Given the description of an element on the screen output the (x, y) to click on. 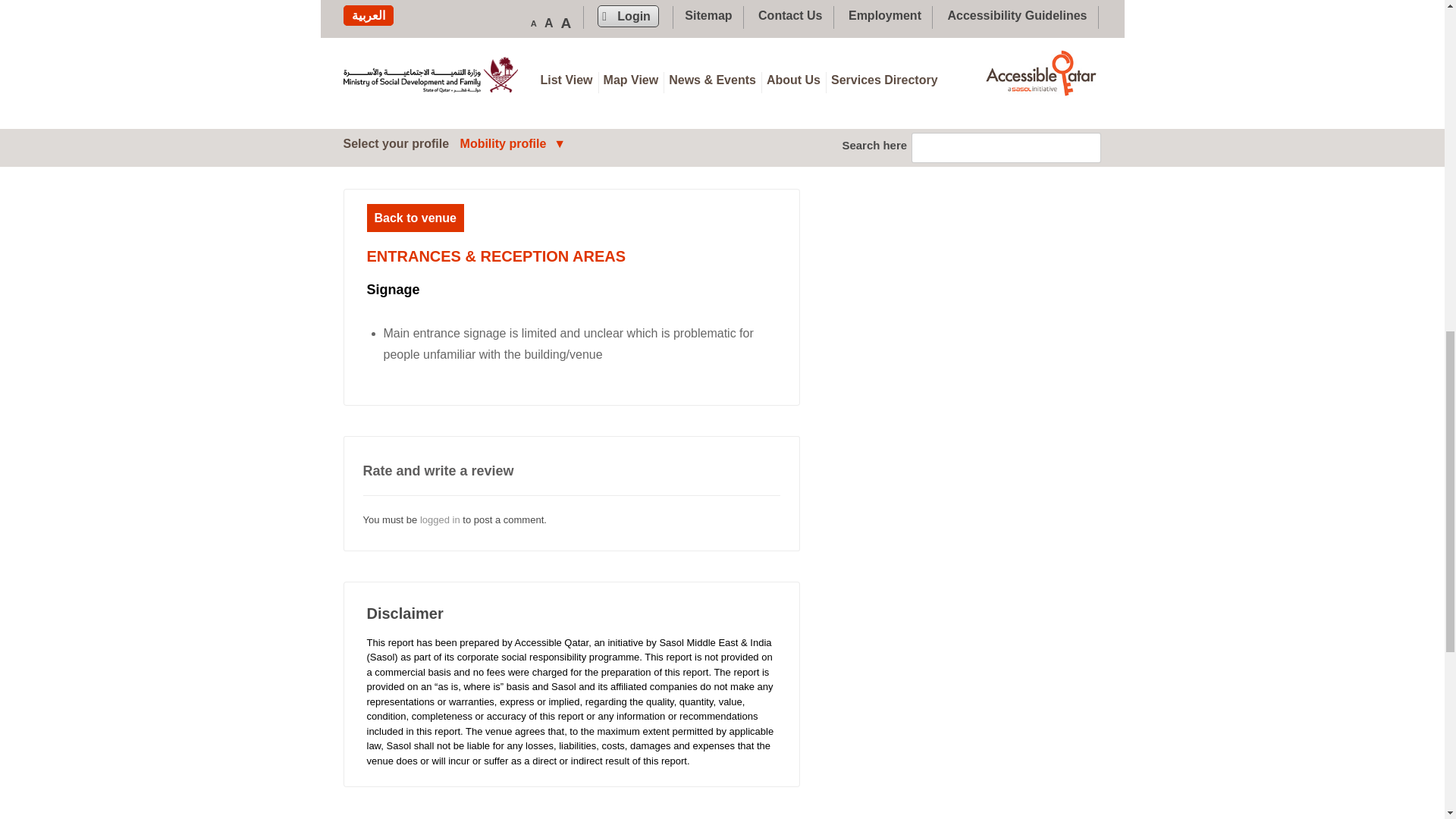
Back to venue (415, 217)
logged in (440, 519)
